Given the description of an element on the screen output the (x, y) to click on. 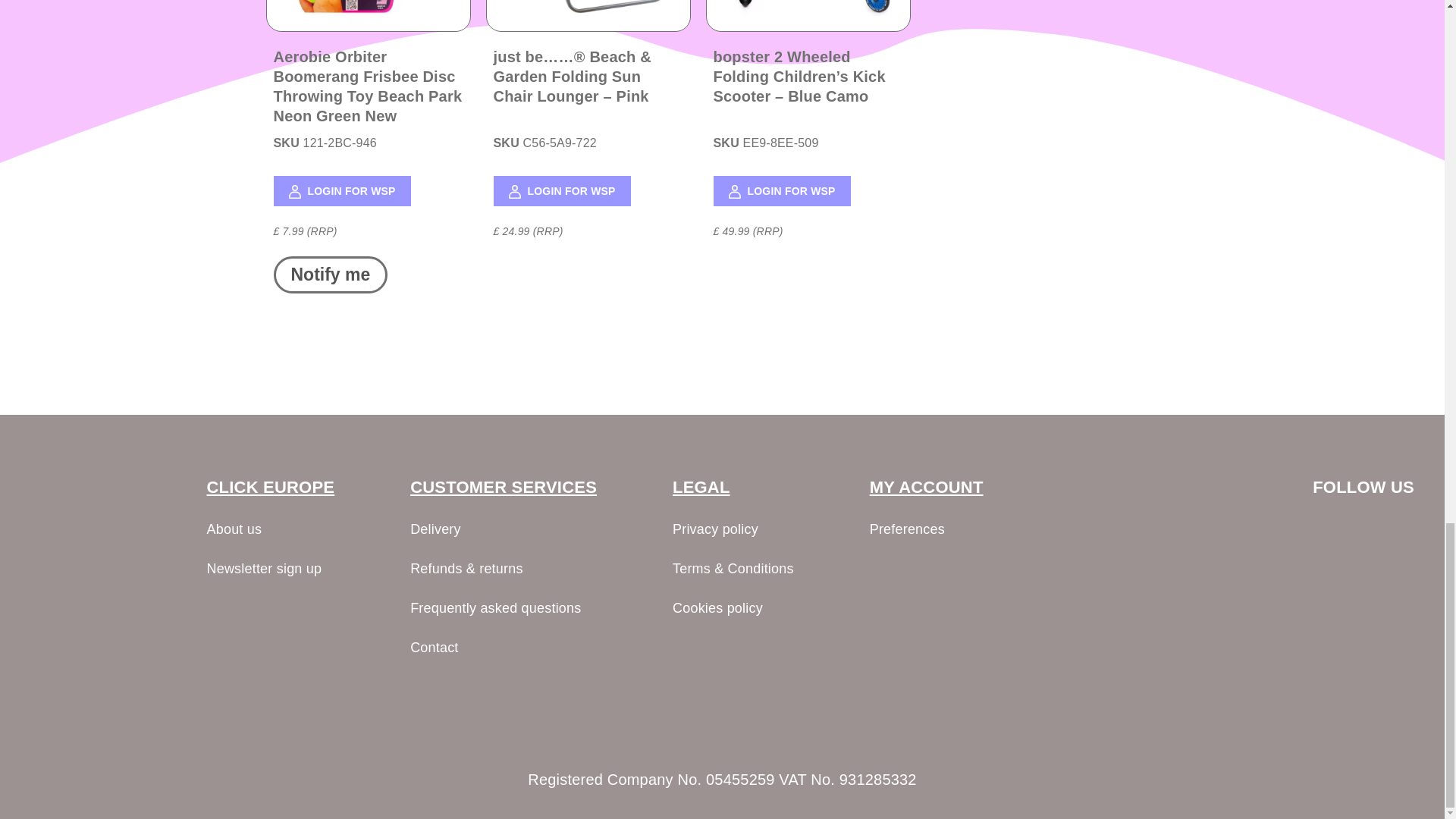
Notify me (330, 274)
